Given the description of an element on the screen output the (x, y) to click on. 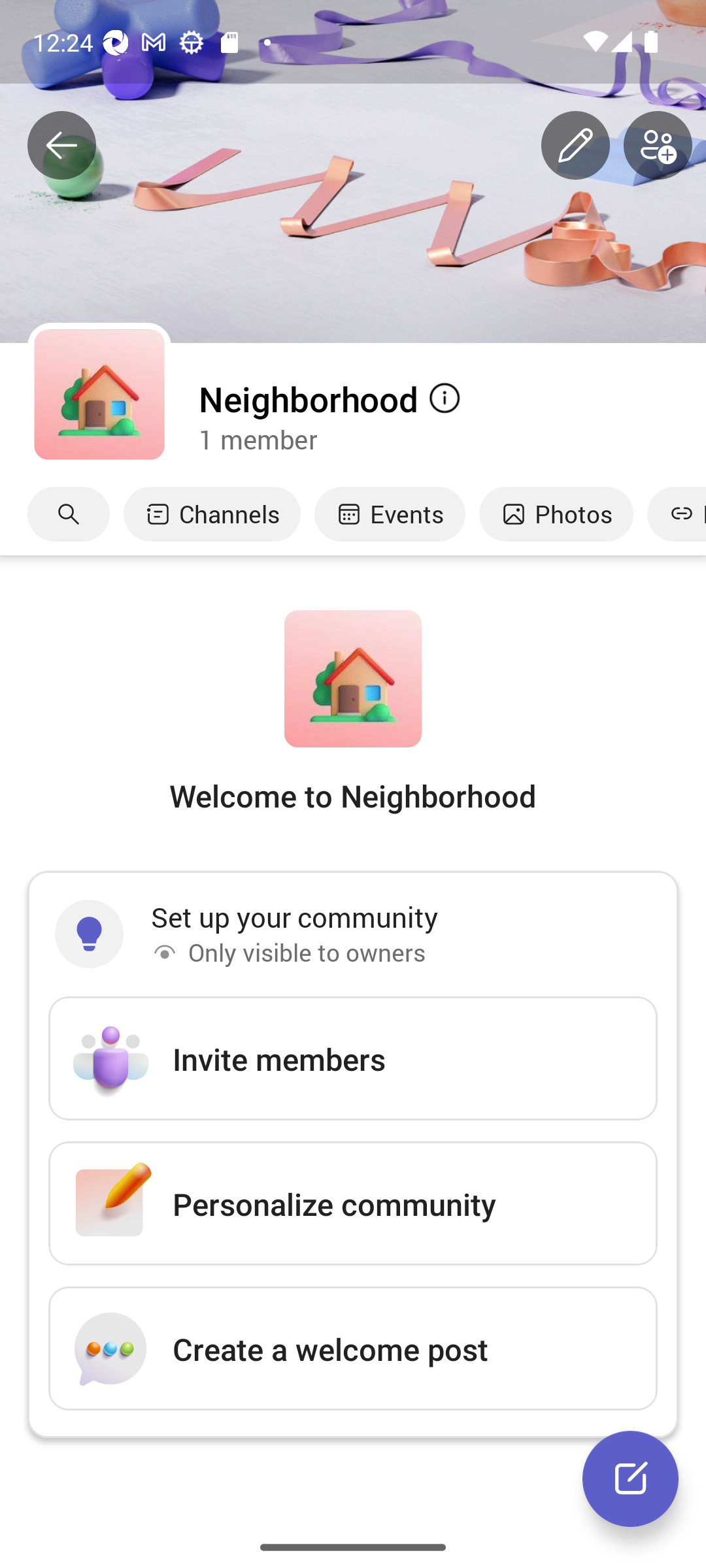
Back (61, 145)
Edit banner image (575, 145)
Add members (657, 145)
Neighborhood 1 member (450, 416)
Search tab, 1 of 6 (68, 513)
Channels tab, 2 of 6 Channels (211, 513)
Events tab, 3 of 6 Events (389, 513)
Photos tab, 4 of 6 Photos (556, 513)
Invite members (352, 1058)
Personalize community (352, 1203)
Create a welcome post (352, 1348)
New conversation (630, 1478)
